Given the description of an element on the screen output the (x, y) to click on. 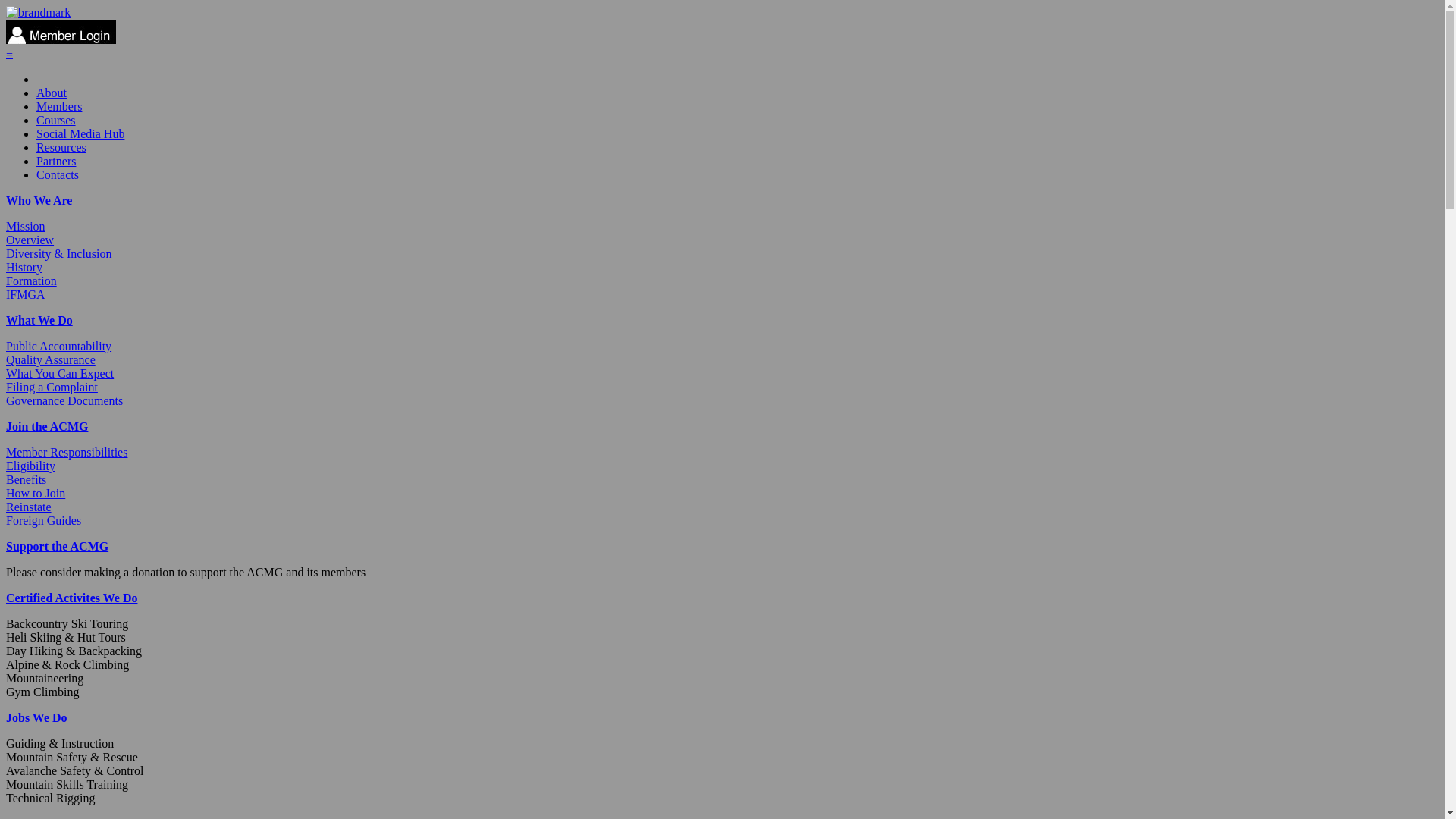
Quality Assurance Element type: text (50, 359)
Certified Activites We Do Element type: text (71, 597)
Diversity & Inclusion Element type: text (59, 253)
Members Element type: text (58, 106)
Resources Element type: text (61, 147)
Courses Element type: text (55, 119)
Member Responsibilities Element type: text (66, 451)
Contacts Element type: text (57, 174)
Overview Element type: text (29, 239)
Jobs We Do Element type: text (36, 717)
Social Media Hub Element type: text (80, 133)
Public Accountability Element type: text (58, 345)
Eligibility Element type: text (30, 465)
Partners Element type: text (55, 160)
Filing a Complaint Element type: text (51, 386)
IFMGA Element type: text (25, 294)
How to Join Element type: text (35, 492)
Reinstate Element type: text (28, 506)
Support the ACMG Element type: text (57, 545)
Formation Element type: text (31, 280)
Governance Documents Element type: text (64, 400)
Mission Element type: text (25, 225)
Benefits Element type: text (26, 479)
What We Do Element type: text (39, 319)
Who We Are Element type: text (39, 200)
Foreign Guides Element type: text (43, 520)
Join the ACMG Element type: text (46, 426)
History Element type: text (24, 266)
About Element type: text (51, 92)
What You Can Expect Element type: text (59, 373)
